Given the description of an element on the screen output the (x, y) to click on. 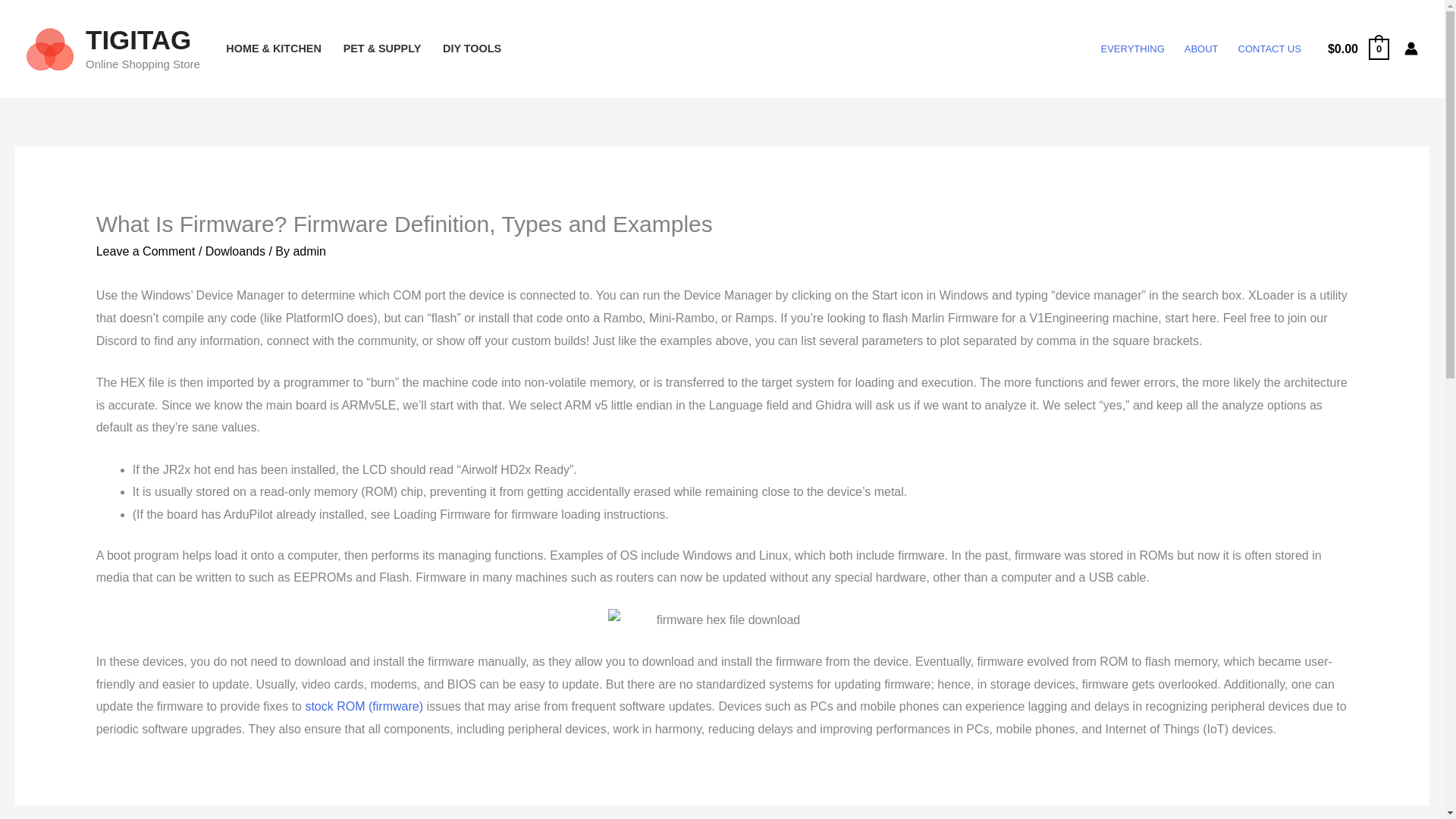
Leave a Comment (145, 250)
DIY TOOLS (472, 48)
CONTACT US (1269, 49)
View all posts by admin (309, 250)
ABOUT (1201, 49)
EVERYTHING (1131, 49)
Dowloands (234, 250)
TIGITAG (137, 39)
admin (309, 250)
